Given the description of an element on the screen output the (x, y) to click on. 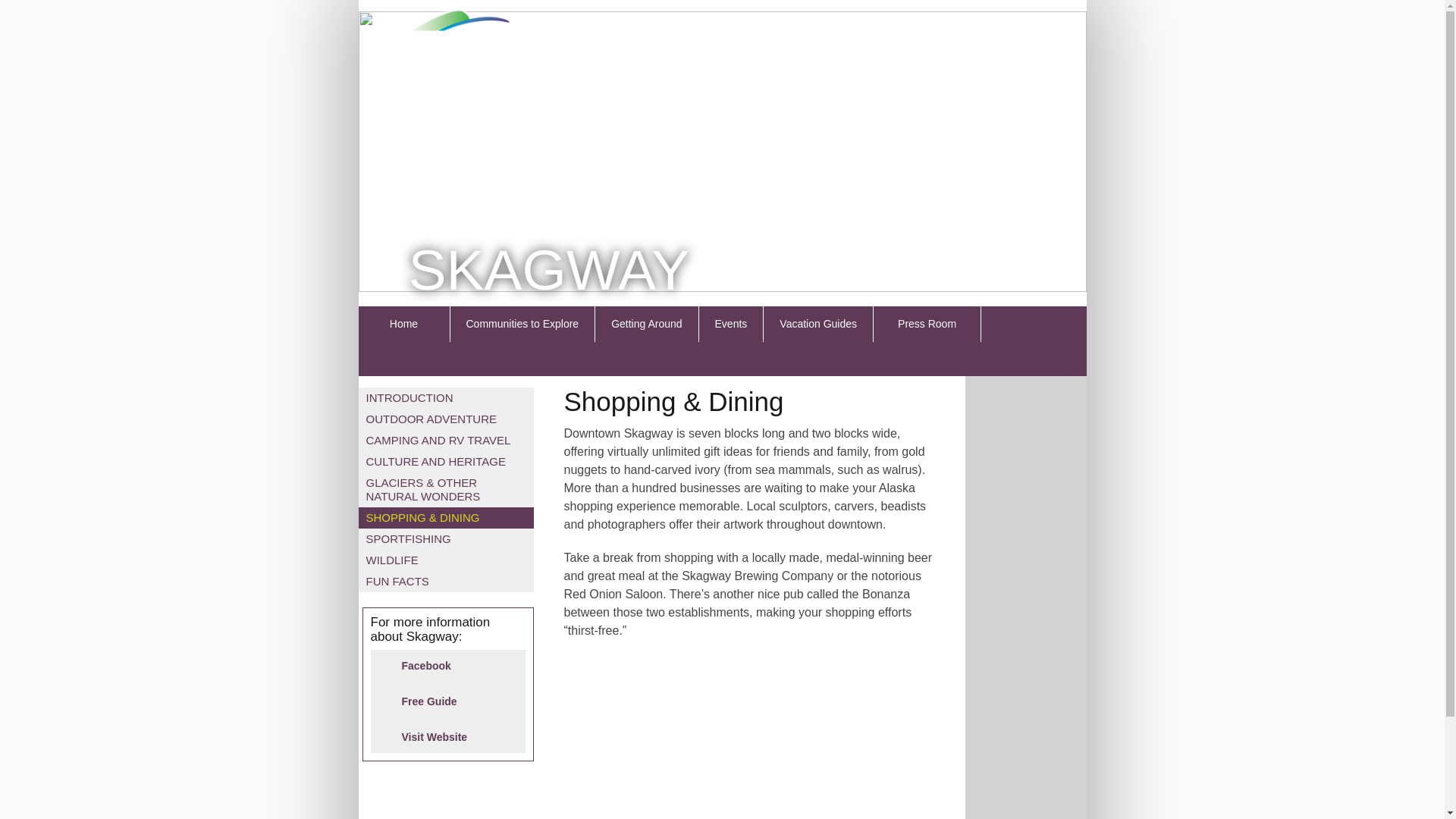
OUTDOOR ADVENTURE (430, 418)
Home (403, 324)
Visit Website (447, 736)
INTRODUCTION (408, 397)
Facebook (447, 665)
Press Room (926, 324)
F (1012, 323)
WILDLIFE (391, 559)
Free Guide (447, 701)
I (1012, 358)
